Given the description of an element on the screen output the (x, y) to click on. 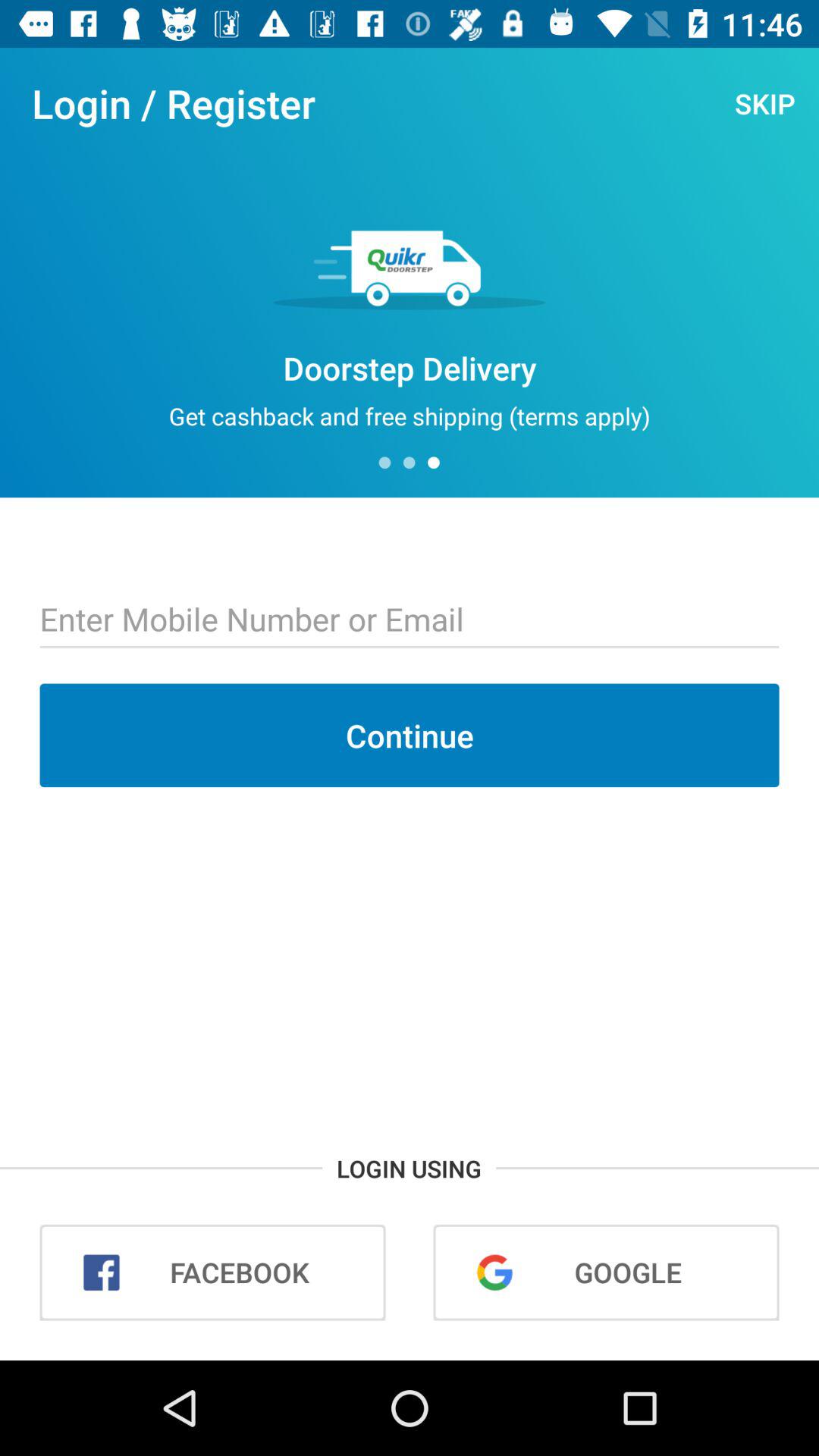
enter mobile number or email (409, 620)
